Given the description of an element on the screen output the (x, y) to click on. 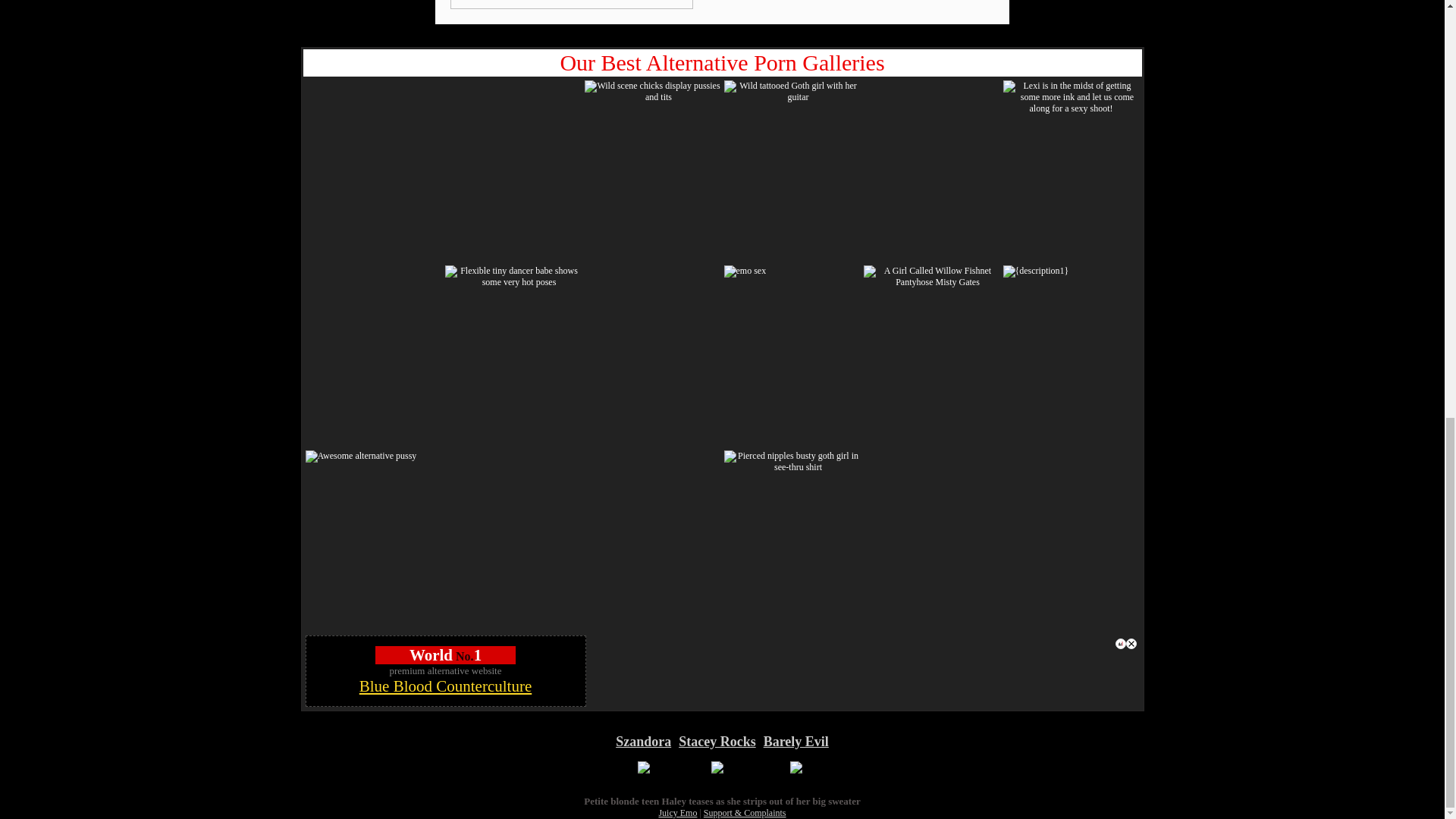
Flexible tiny dancer babe shows some very hot poses (512, 276)
A Girl Called Willow Fishnet Pantyhose Misty Gates (930, 276)
Awesome alternative pussy (360, 456)
Pierced nipples busty goth girl in see-thru shirt (791, 461)
Wild tattooed Goth girl with her guitar (791, 91)
emo sex (744, 271)
Wild scene chicks display pussies and tits (651, 91)
